Given the description of an element on the screen output the (x, y) to click on. 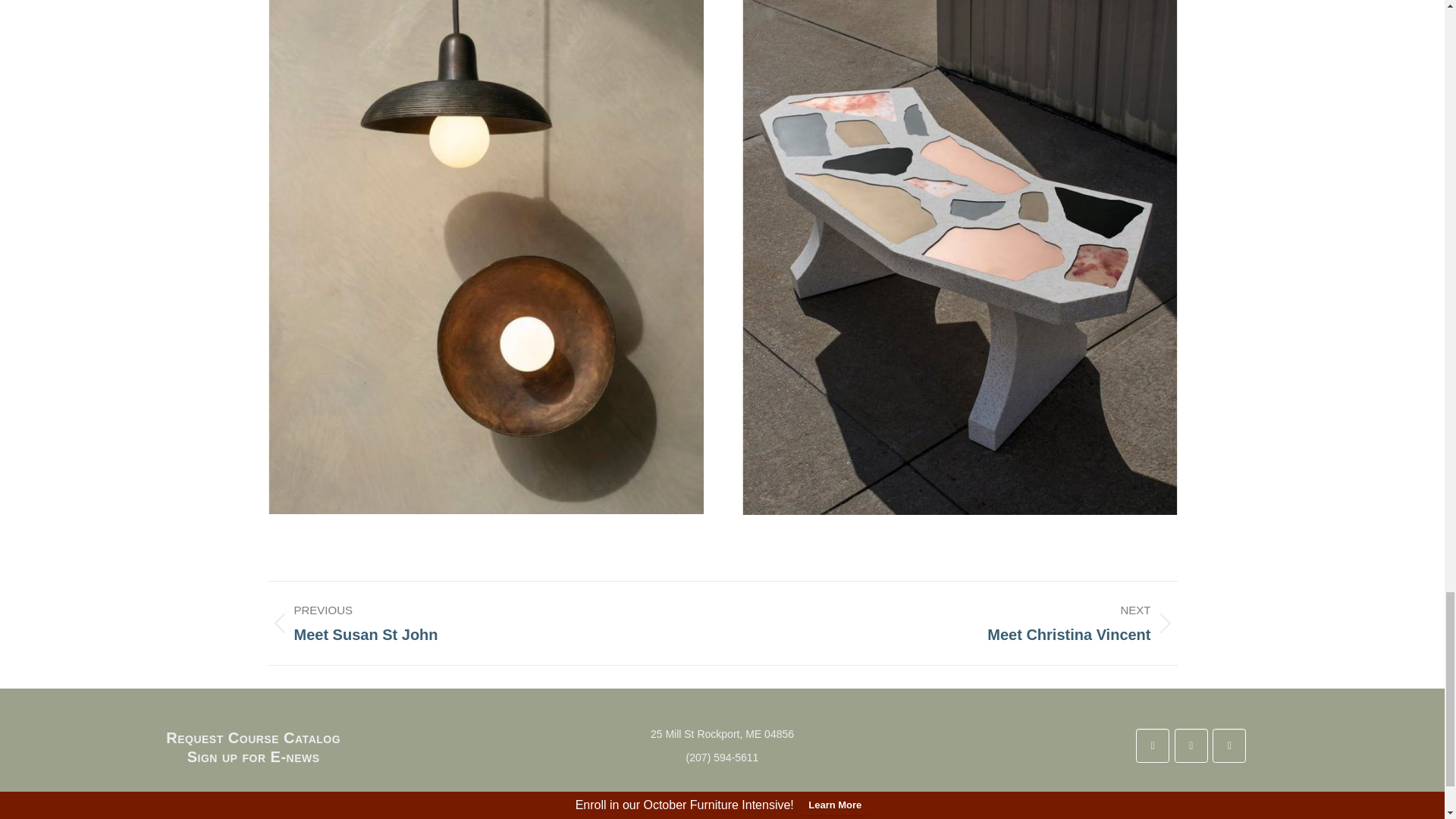
Center for Furniture Craftsmanship on Youtube (1229, 745)
Center for Furniture Craftsmanship on Facebook (1152, 745)
Center for Furniture Craftsmanship on Instagram (1191, 745)
